Given the description of an element on the screen output the (x, y) to click on. 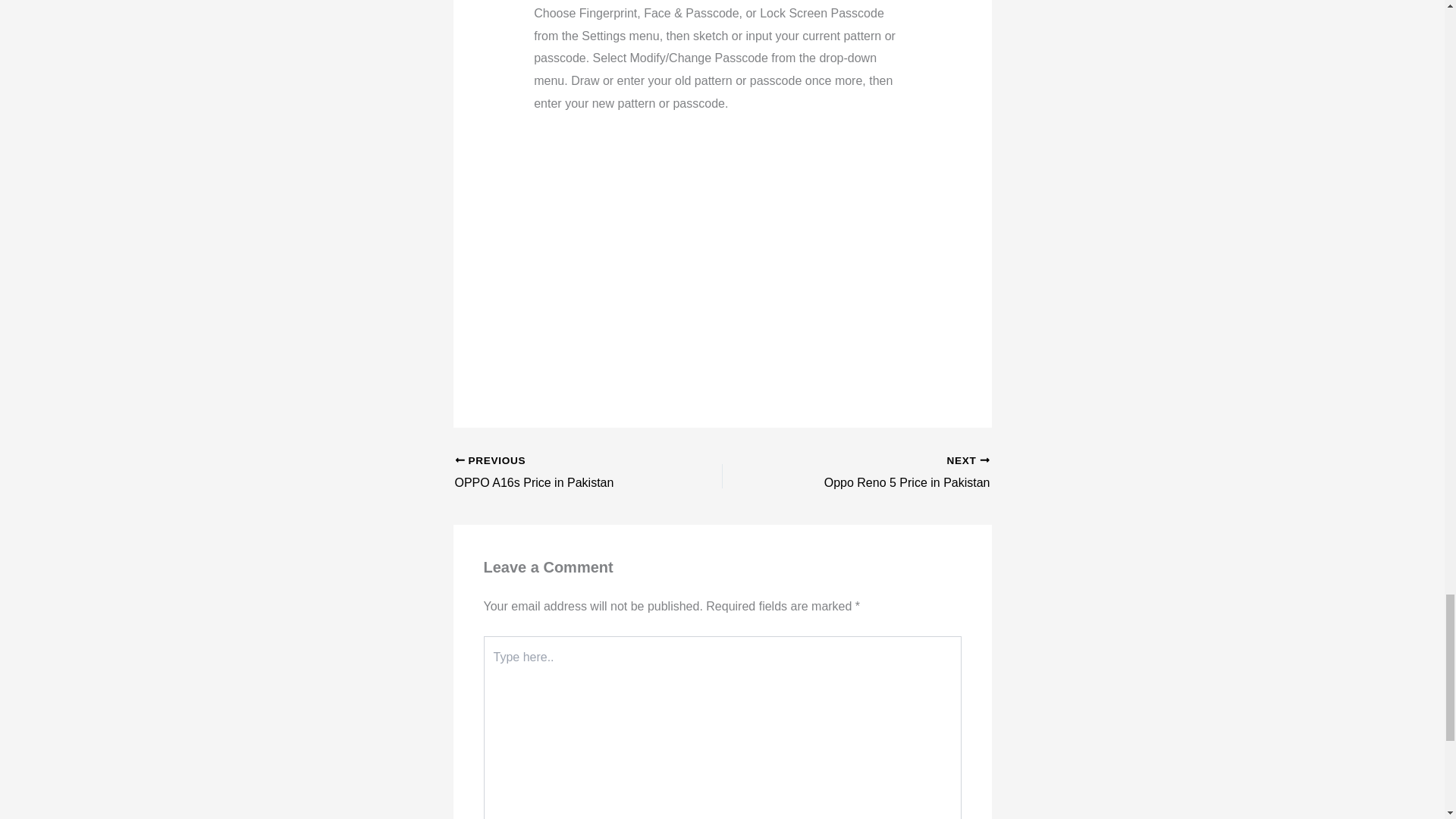
Oppo Reno 5 Price in Pakistan (882, 473)
OPPO A16s Price in Pakistan (561, 473)
